Given the description of an element on the screen output the (x, y) to click on. 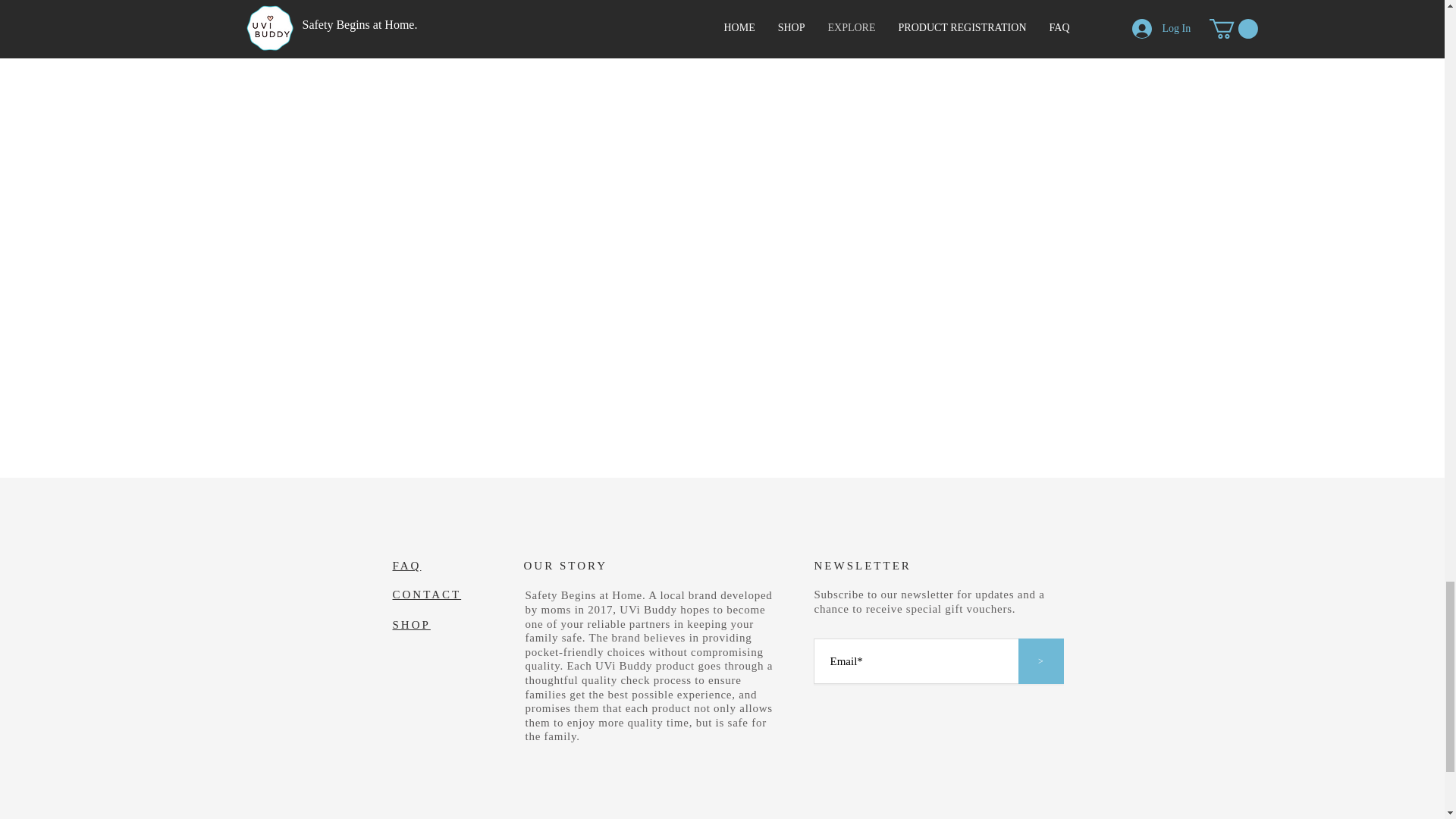
FAQ (407, 565)
SHOP (411, 624)
CONTACT (427, 594)
